Given the description of an element on the screen output the (x, y) to click on. 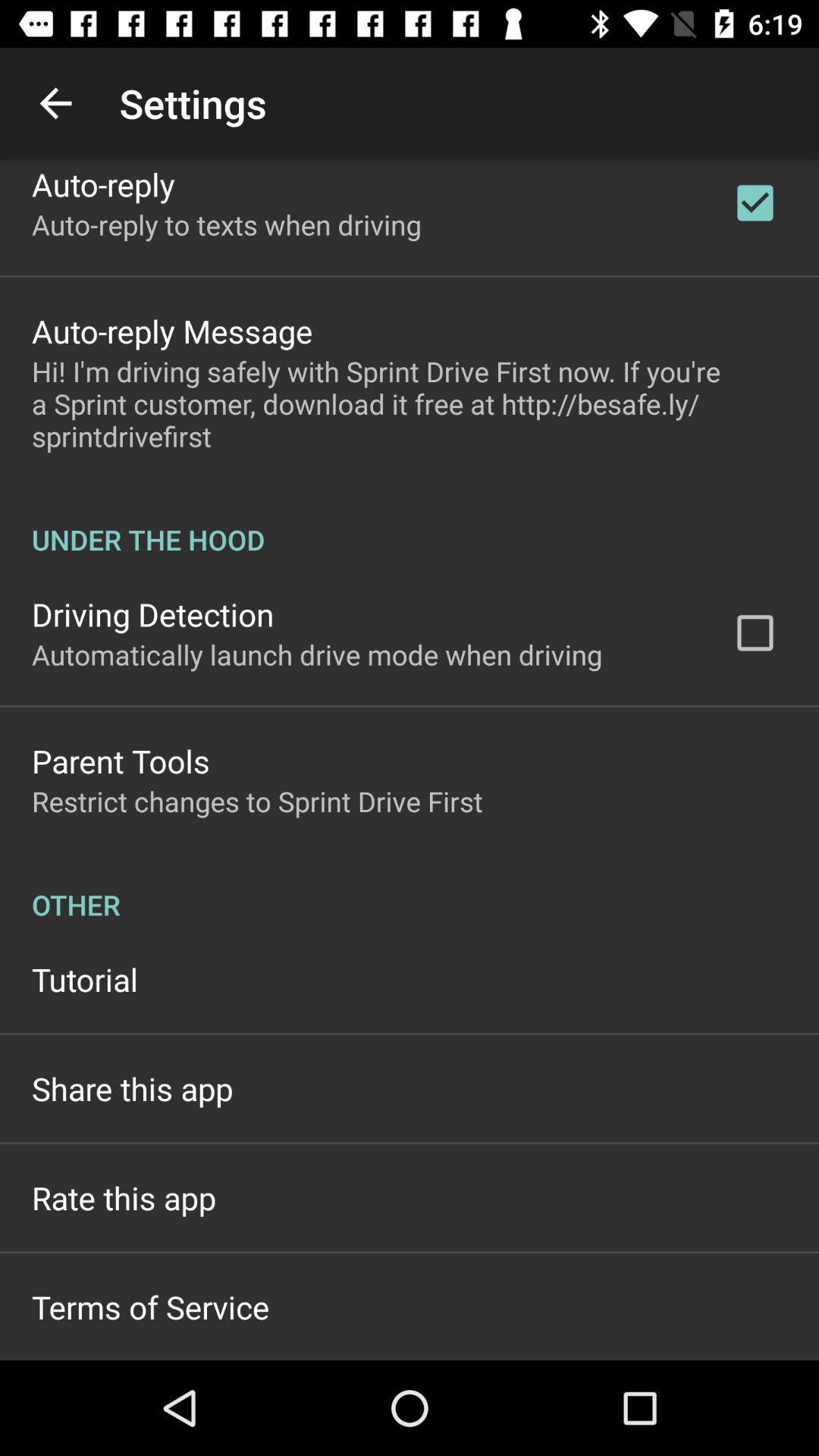
select the item below restrict changes to item (409, 888)
